Given the description of an element on the screen output the (x, y) to click on. 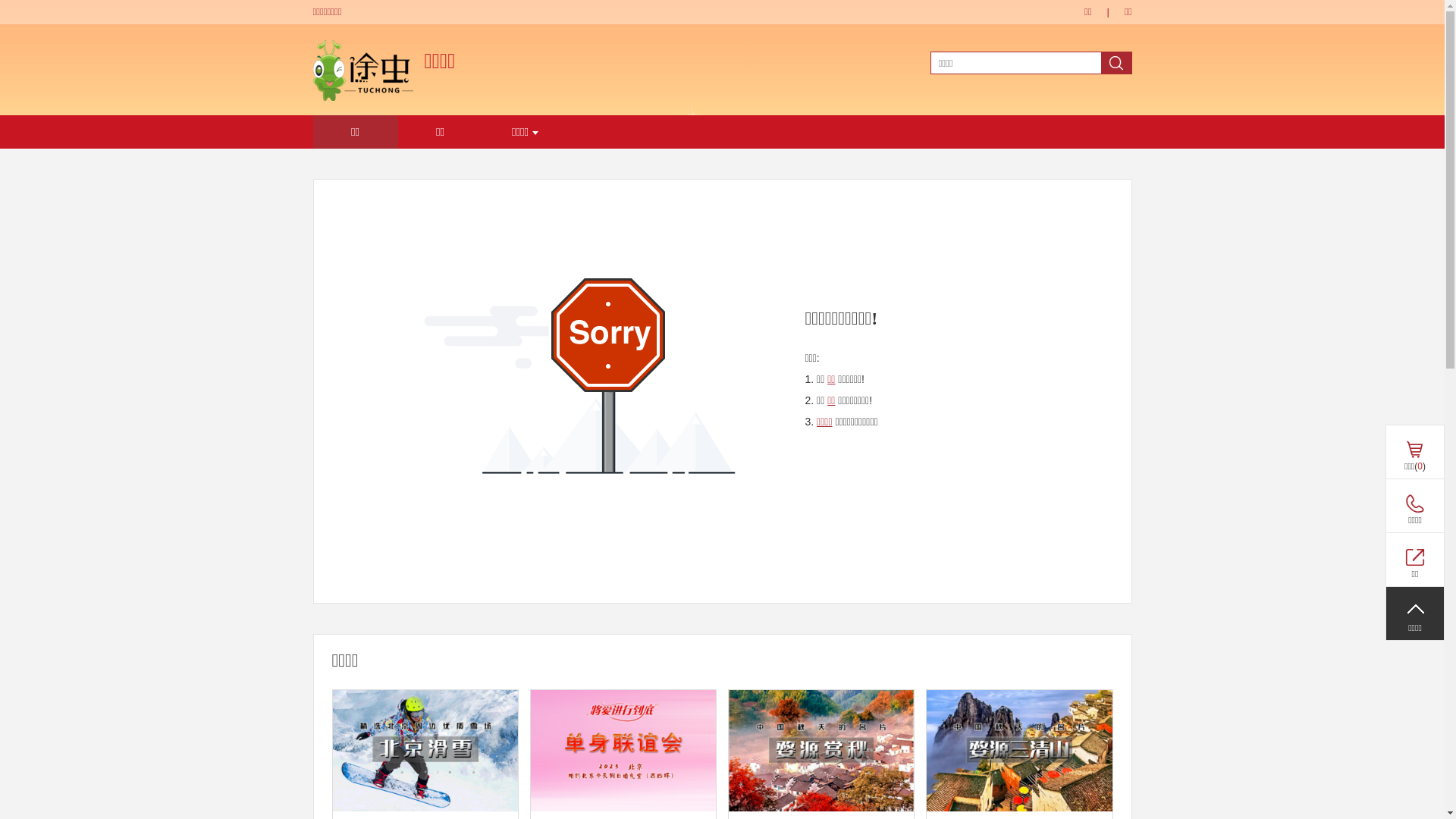
0 Element type: text (1413, 559)
